Given the description of an element on the screen output the (x, y) to click on. 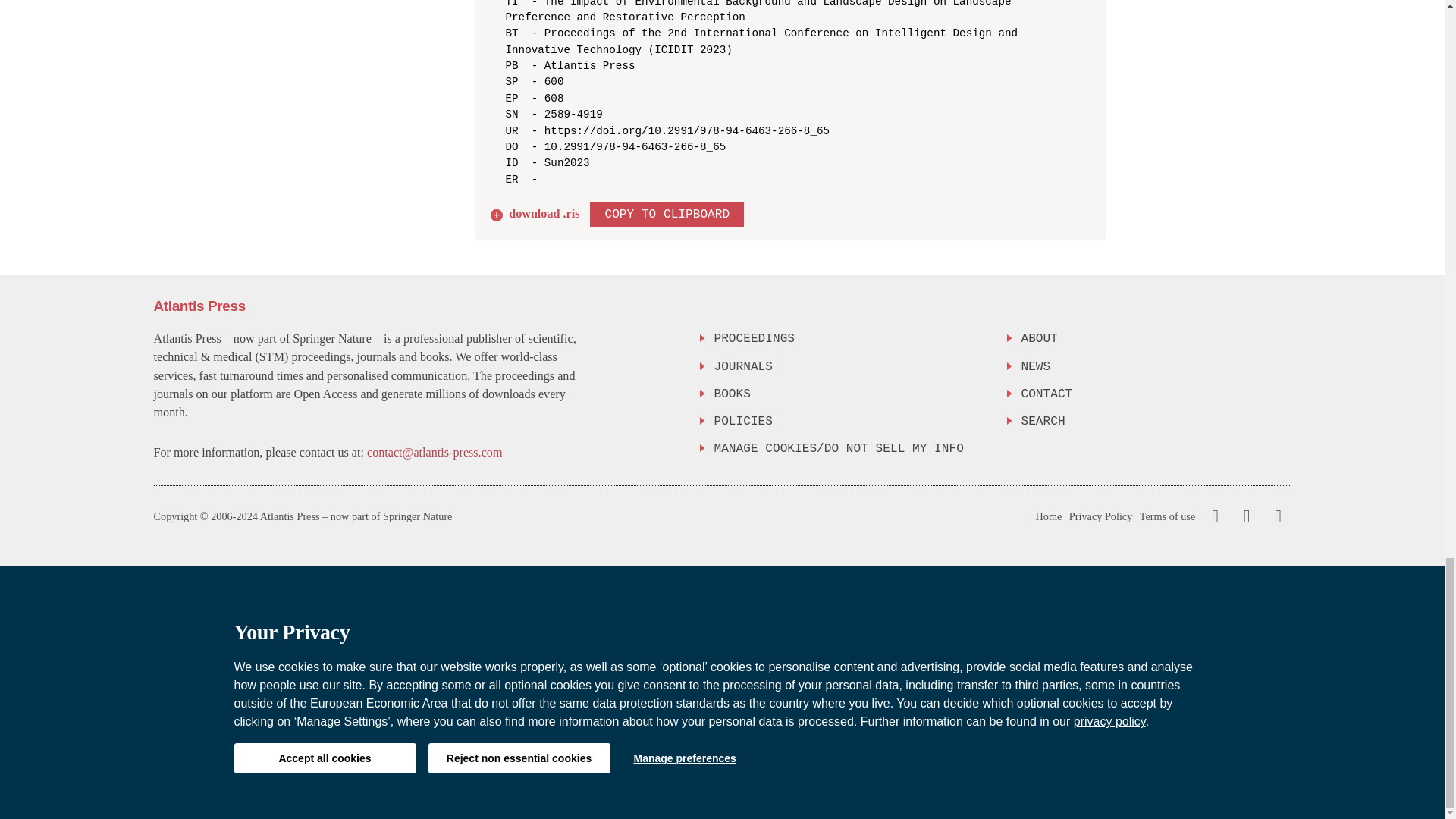
Twitter (1243, 516)
Facebook (1215, 516)
LinkedIn (1275, 516)
